Given the description of an element on the screen output the (x, y) to click on. 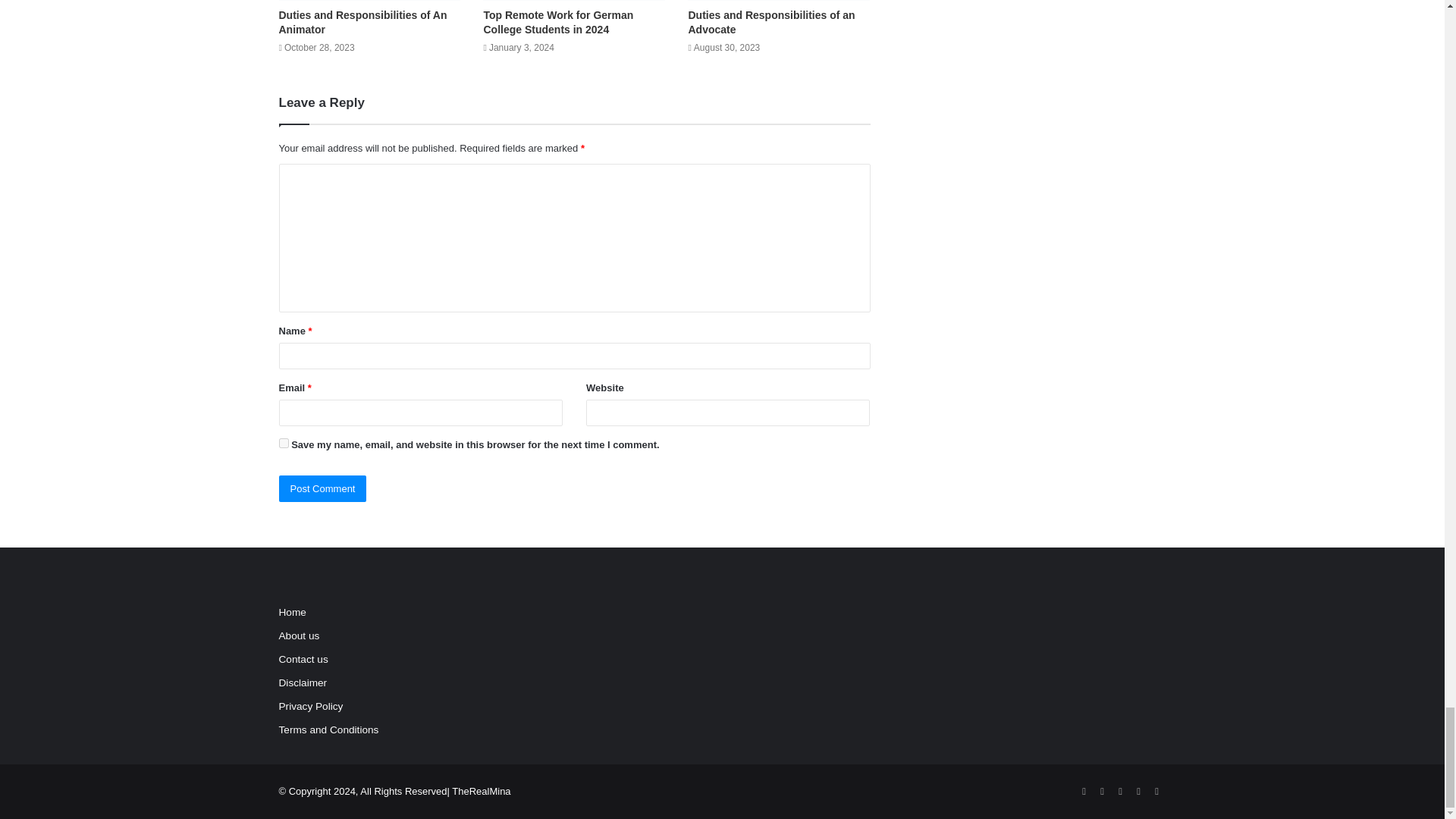
Post Comment (322, 488)
yes (283, 442)
